Given the description of an element on the screen output the (x, y) to click on. 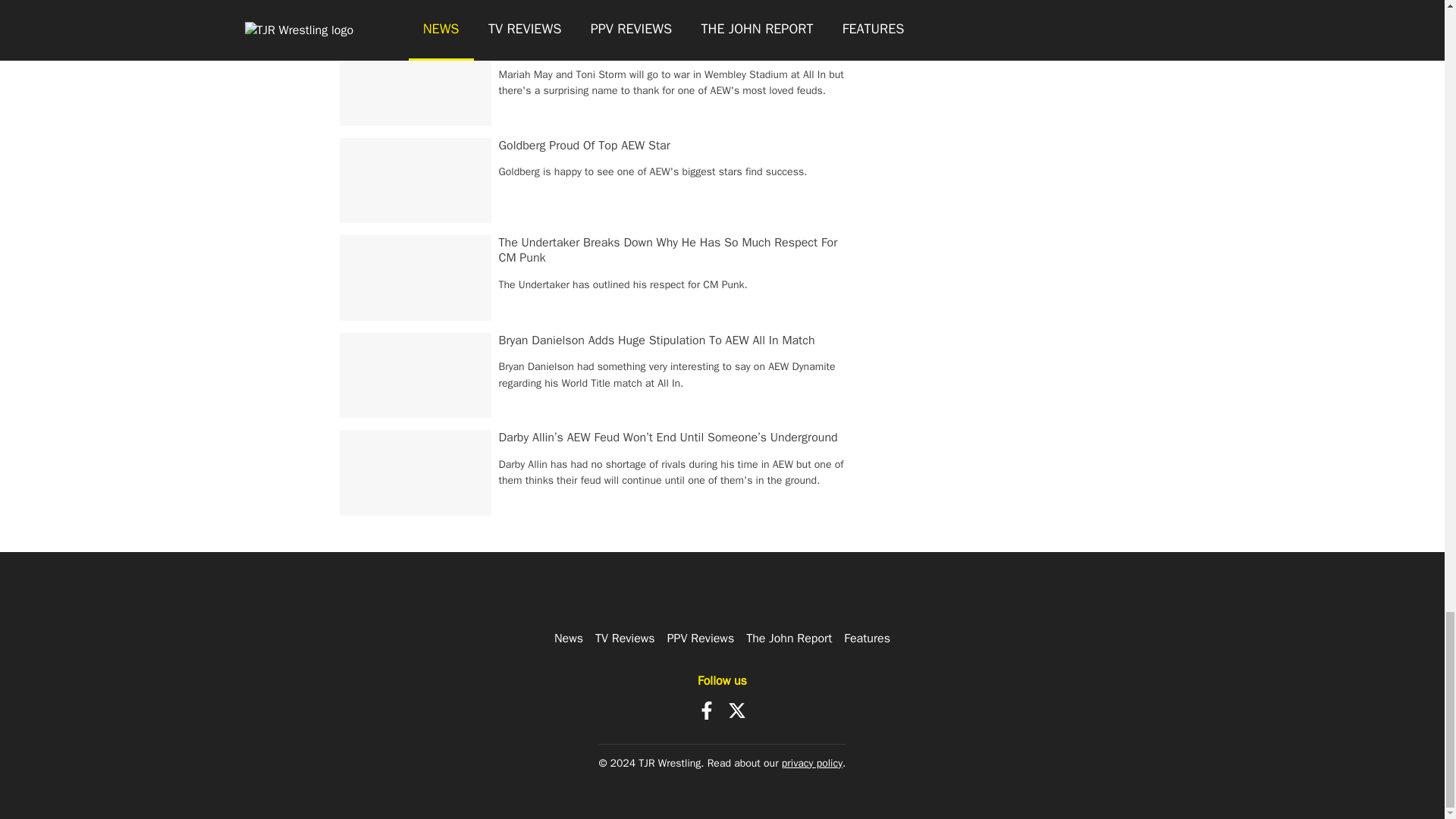
Facebook (706, 710)
Bryan Danielson Adds Huge Stipulation To AEW All In Match (657, 340)
Goldberg Proud Of Top AEW Star (584, 145)
X (736, 710)
